Given the description of an element on the screen output the (x, y) to click on. 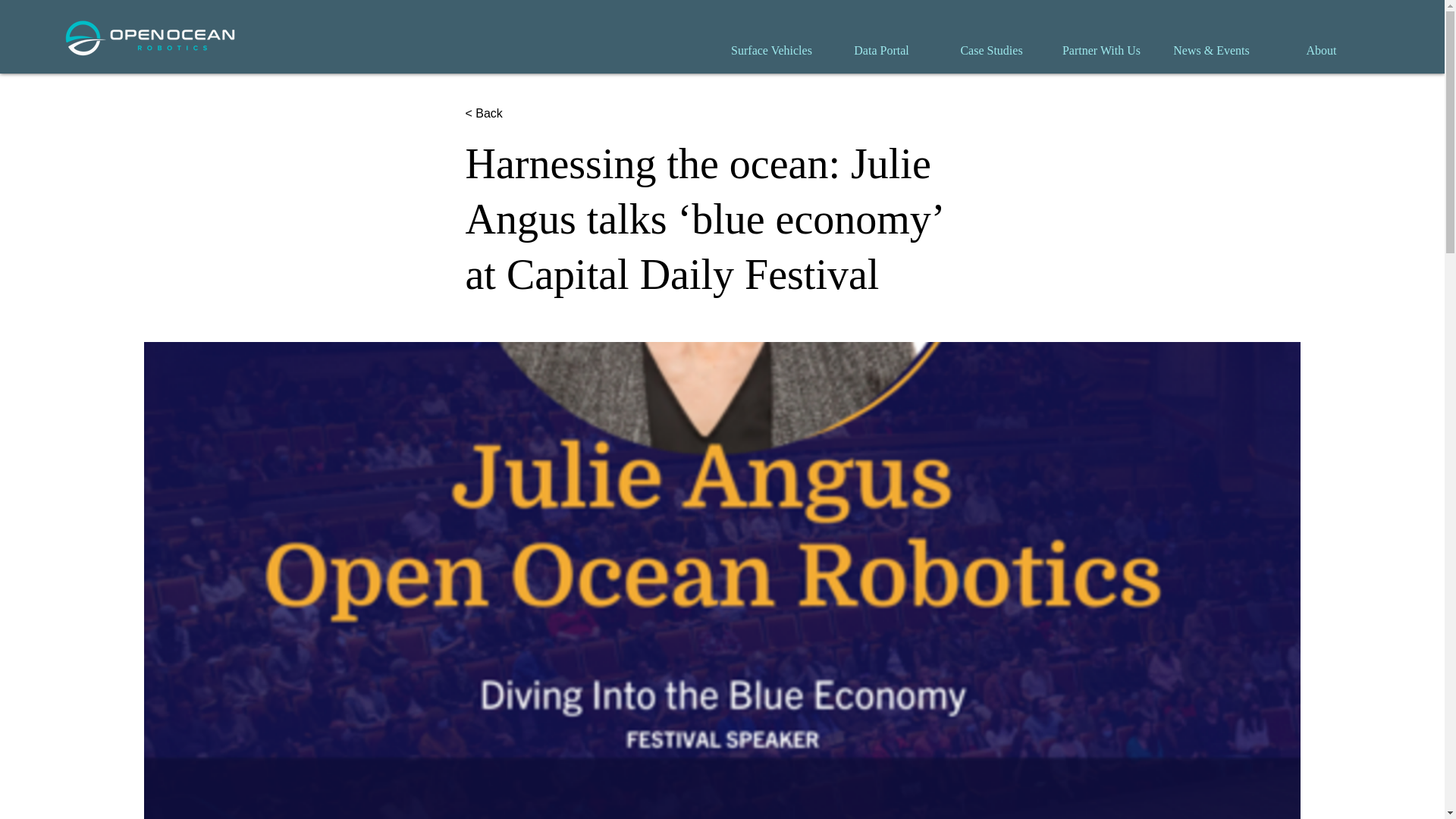
Partner With Us (1101, 50)
Surface Vehicles (771, 50)
Data Portal (881, 50)
